Given the description of an element on the screen output the (x, y) to click on. 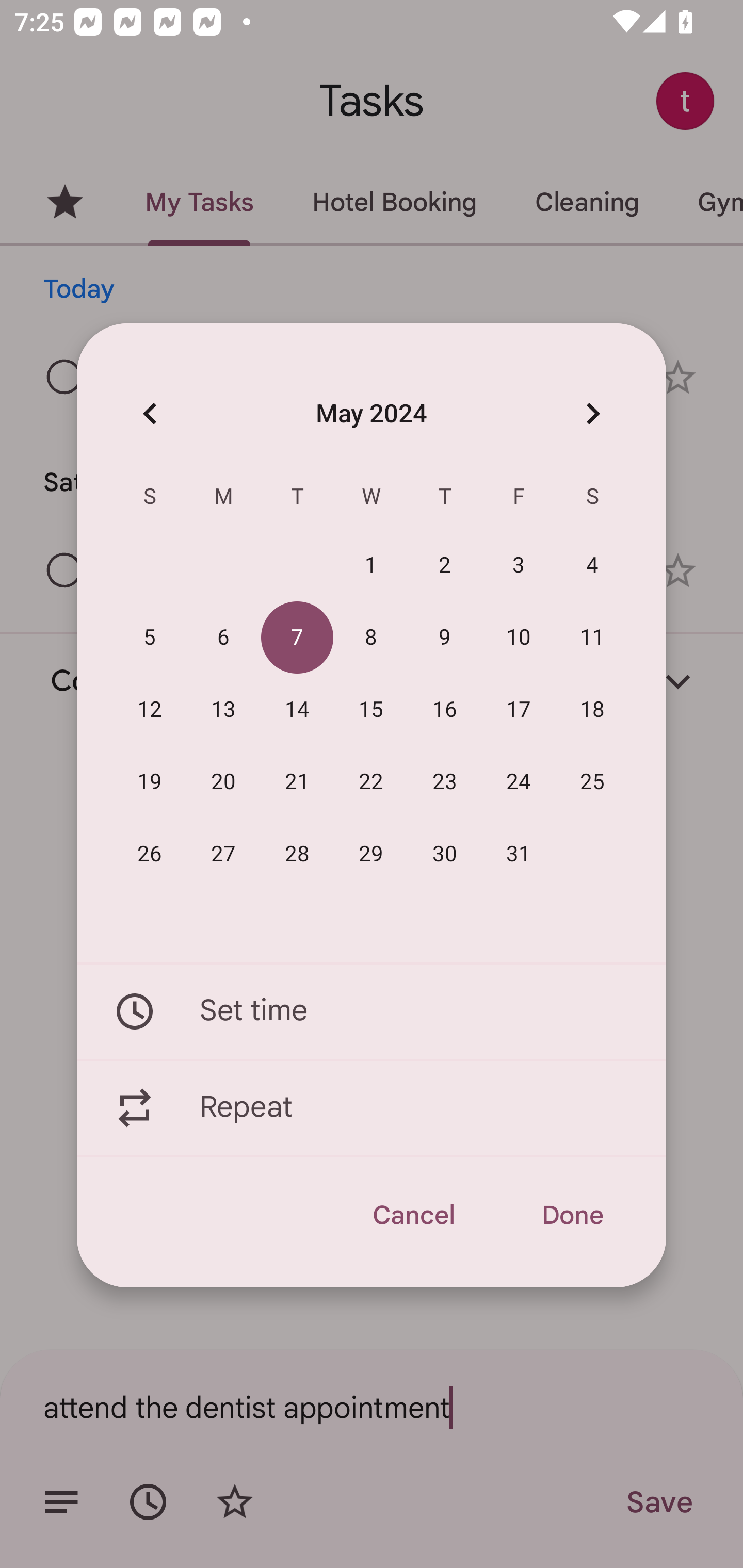
Previous month (149, 413)
Next month (592, 413)
1 01 May 2024 (370, 565)
2 02 May 2024 (444, 565)
3 03 May 2024 (518, 565)
4 04 May 2024 (592, 565)
5 05 May 2024 (149, 638)
6 06 May 2024 (223, 638)
7 07 May 2024 (297, 638)
8 08 May 2024 (370, 638)
9 09 May 2024 (444, 638)
10 10 May 2024 (518, 638)
11 11 May 2024 (592, 638)
12 12 May 2024 (149, 710)
13 13 May 2024 (223, 710)
14 14 May 2024 (297, 710)
15 15 May 2024 (370, 710)
16 16 May 2024 (444, 710)
17 17 May 2024 (518, 710)
18 18 May 2024 (592, 710)
19 19 May 2024 (149, 782)
20 20 May 2024 (223, 782)
21 21 May 2024 (297, 782)
22 22 May 2024 (370, 782)
23 23 May 2024 (444, 782)
24 24 May 2024 (518, 782)
25 25 May 2024 (592, 782)
26 26 May 2024 (149, 854)
27 27 May 2024 (223, 854)
28 28 May 2024 (297, 854)
29 29 May 2024 (370, 854)
30 30 May 2024 (444, 854)
31 31 May 2024 (518, 854)
Set time (371, 1011)
Repeat (371, 1108)
Cancel (412, 1215)
Done (571, 1215)
